Given the description of an element on the screen output the (x, y) to click on. 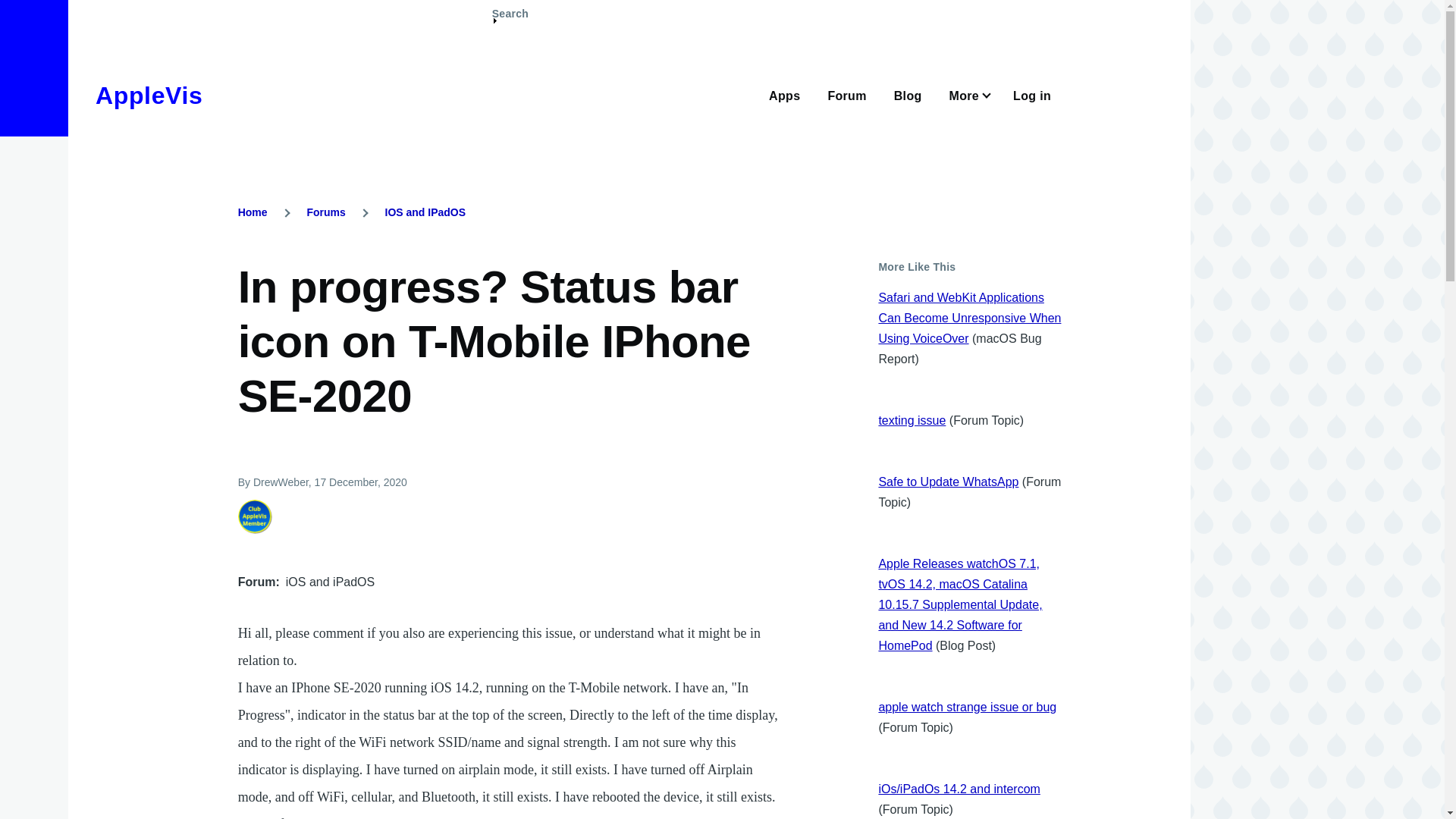
AppleVis (149, 94)
Safe to Update WhatsApp (947, 481)
apple watch strange issue or bug (967, 707)
Search (510, 20)
Forums (325, 212)
texting issue (910, 420)
Home (252, 212)
Home (149, 94)
Skip to main content (595, 6)
